Given the description of an element on the screen output the (x, y) to click on. 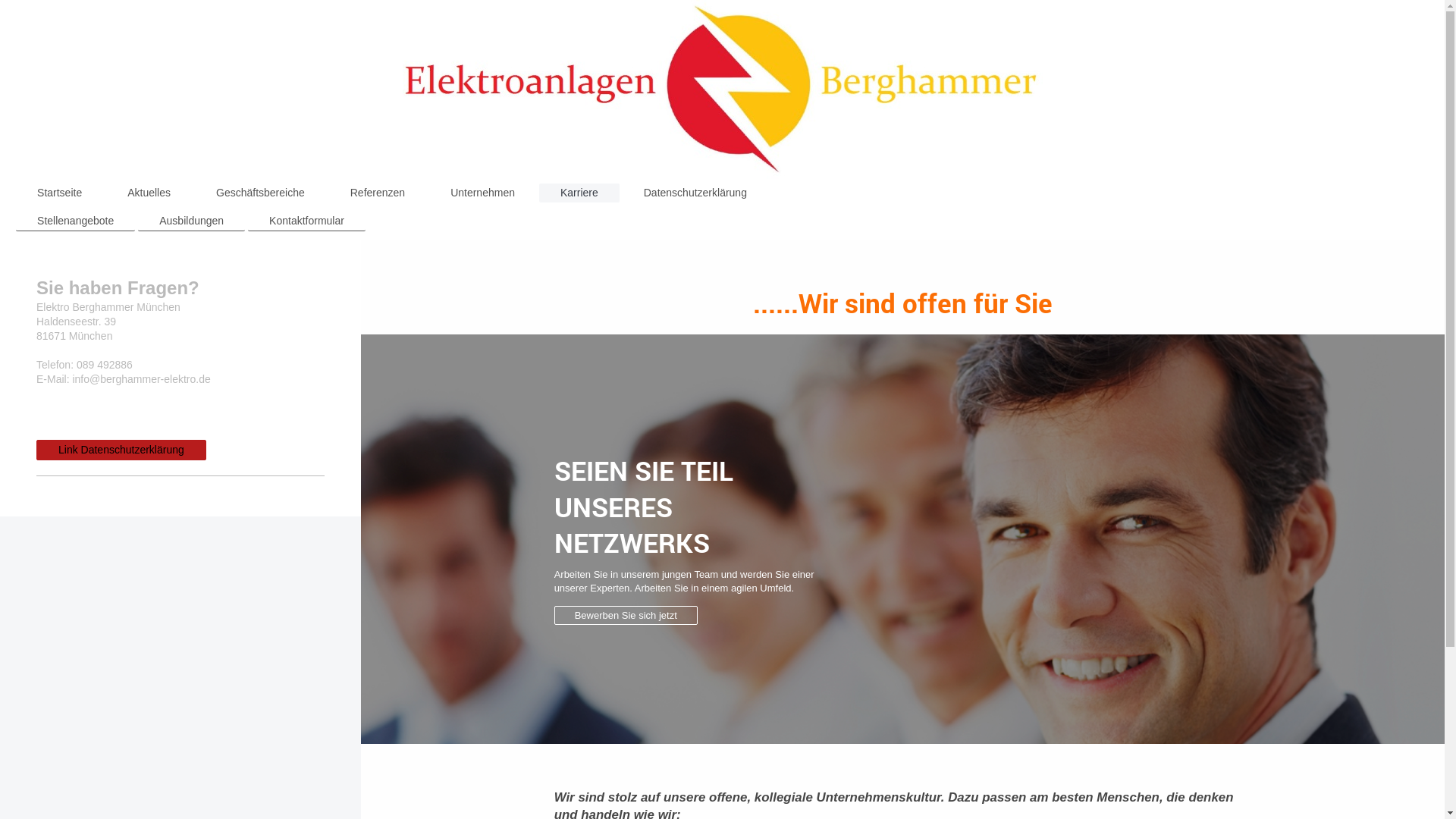
Referenzen Element type: text (377, 192)
Kontaktformular Element type: text (306, 220)
Startseite Element type: text (59, 192)
Karriere Element type: text (579, 192)
Unternehmen Element type: text (482, 192)
Bewerben Sie sich jetzt Element type: text (625, 614)
Aktuelles Element type: text (148, 192)
Stellenangebote Element type: text (74, 220)
Ausbildungen Element type: text (191, 220)
